Given the description of an element on the screen output the (x, y) to click on. 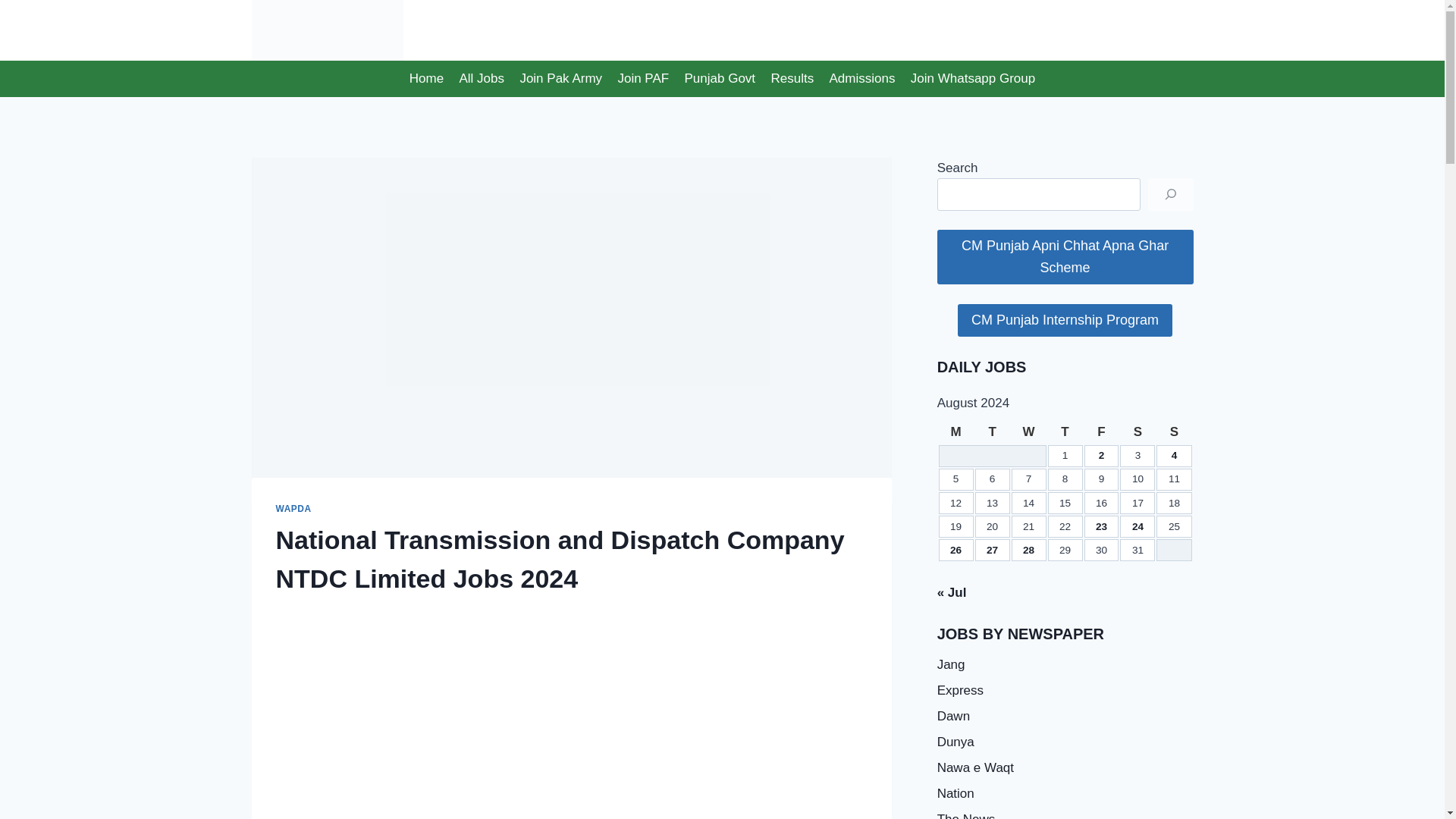
Monday (956, 431)
Punjab Govt (719, 78)
Wednesday (1028, 431)
Advertisement (571, 704)
Join Whatsapp Group (972, 78)
WAPDA (293, 508)
Join Pak Army (561, 78)
Join PAF (643, 78)
Results (791, 78)
Home (426, 78)
